Given the description of an element on the screen output the (x, y) to click on. 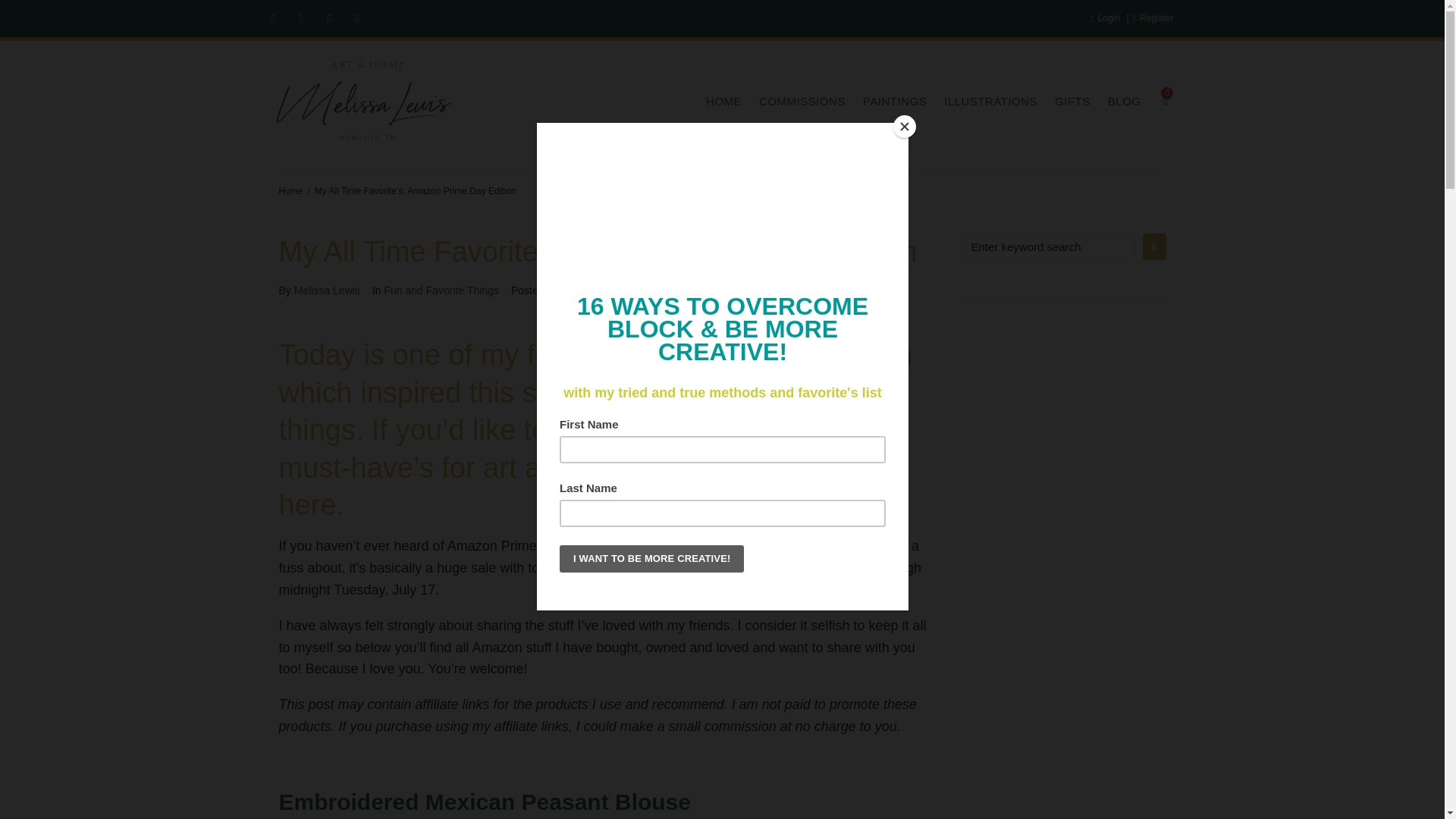
COMMISSIONS (793, 101)
Home (290, 190)
Home (290, 190)
Melissa Lewis (326, 290)
ILLUSTRATIONS (981, 101)
HOME (714, 101)
PAINTINGS (885, 101)
Fun and Favorite Things (441, 290)
BLOG (1115, 101)
here. (312, 504)
GIFTS (1063, 101)
0 (1168, 99)
Embroidered Mexican Peasant Blouse (485, 801)
Register (1152, 18)
Login (1104, 18)
